Given the description of an element on the screen output the (x, y) to click on. 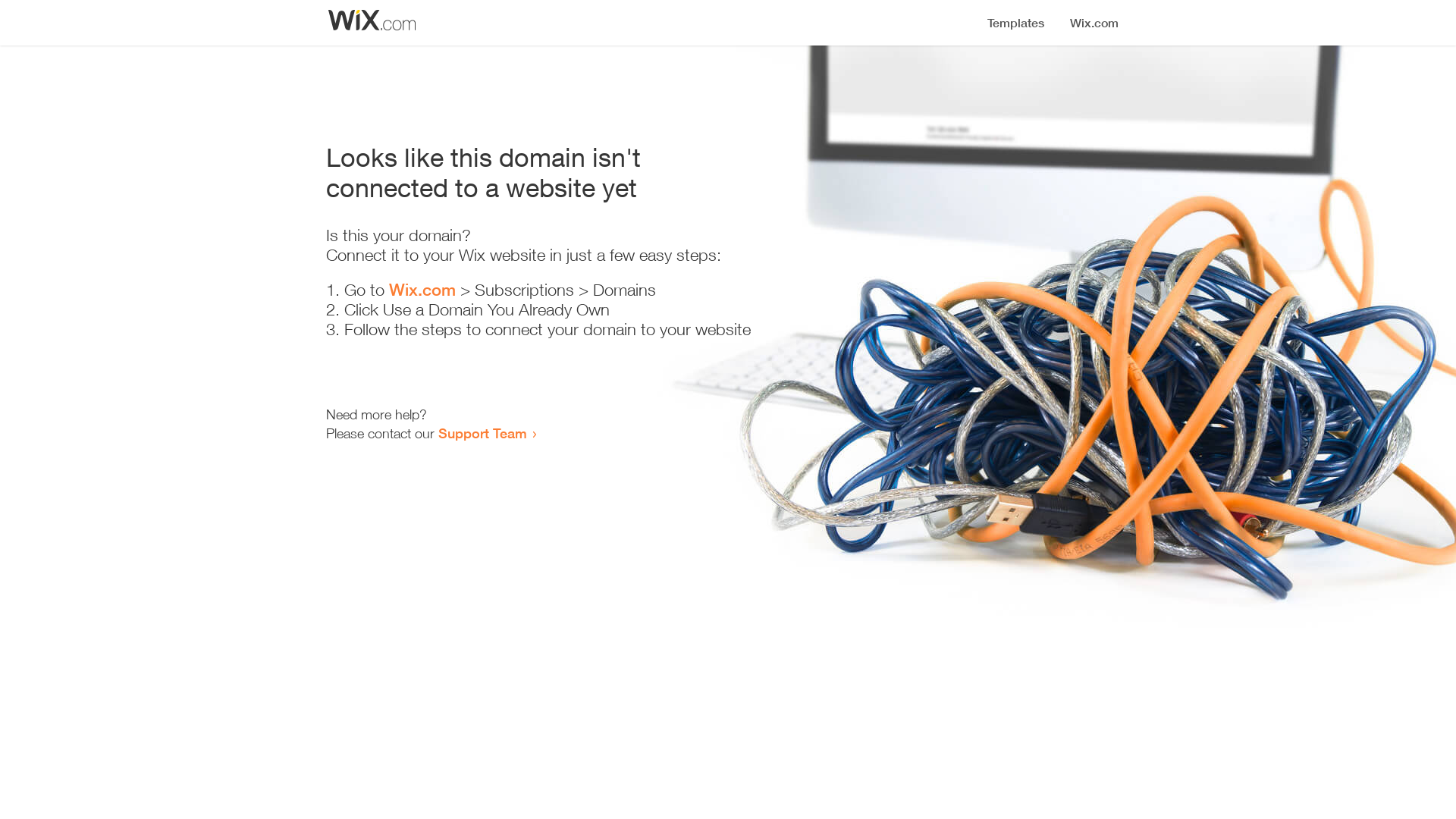
Support Team Element type: text (482, 432)
Wix.com Element type: text (422, 289)
